Given the description of an element on the screen output the (x, y) to click on. 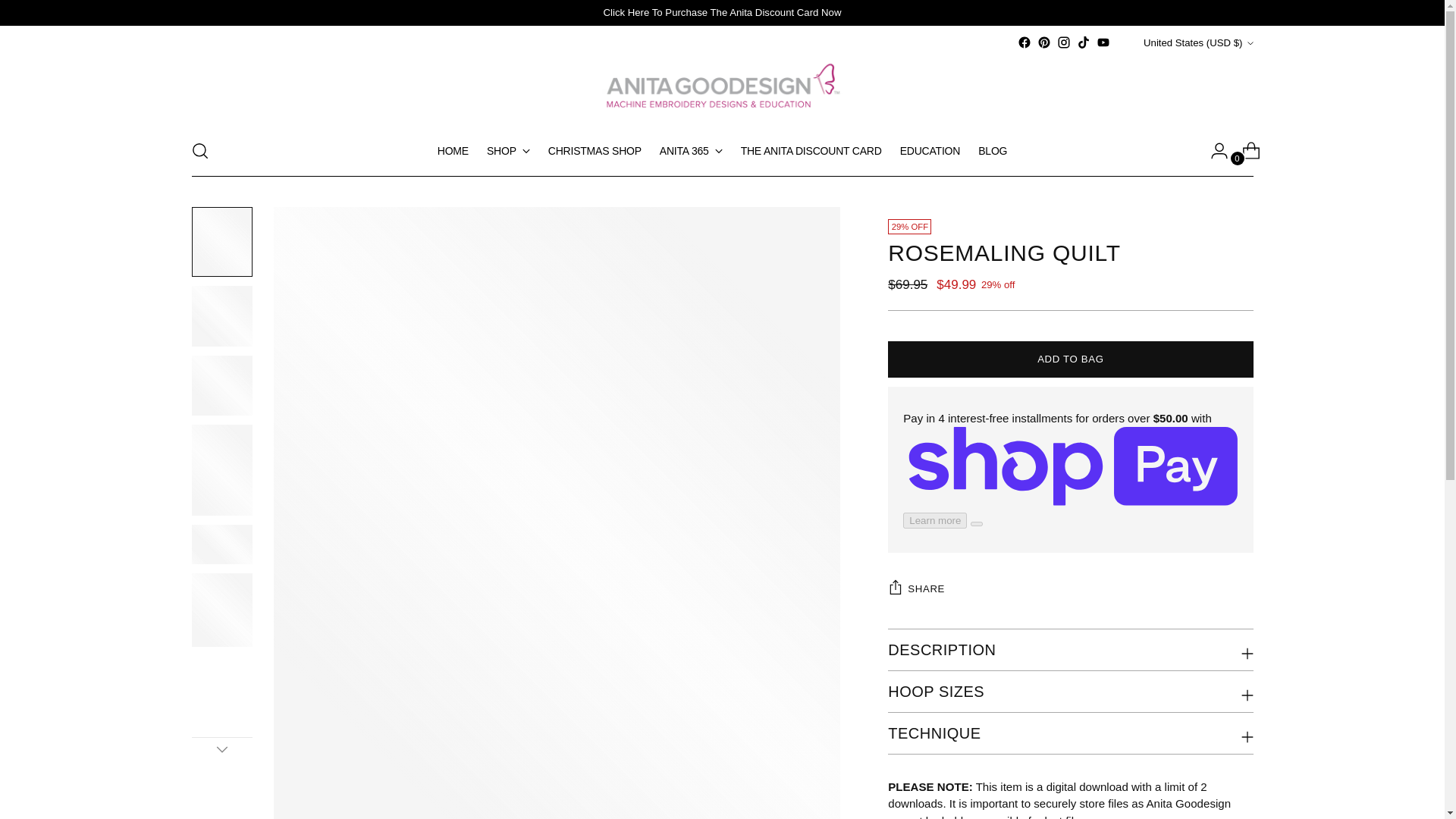
Click Here To Purchase The Anita Discount Card Now (722, 12)
Anita Goodesign on YouTube (1102, 42)
Anita Goodesign on Pinterest (1043, 42)
Anita Goodesign on Tiktok (1083, 42)
Anita Goodesign on Instagram (1063, 42)
Down (220, 748)
Anita Goodesign on Facebook (1023, 42)
